Given the description of an element on the screen output the (x, y) to click on. 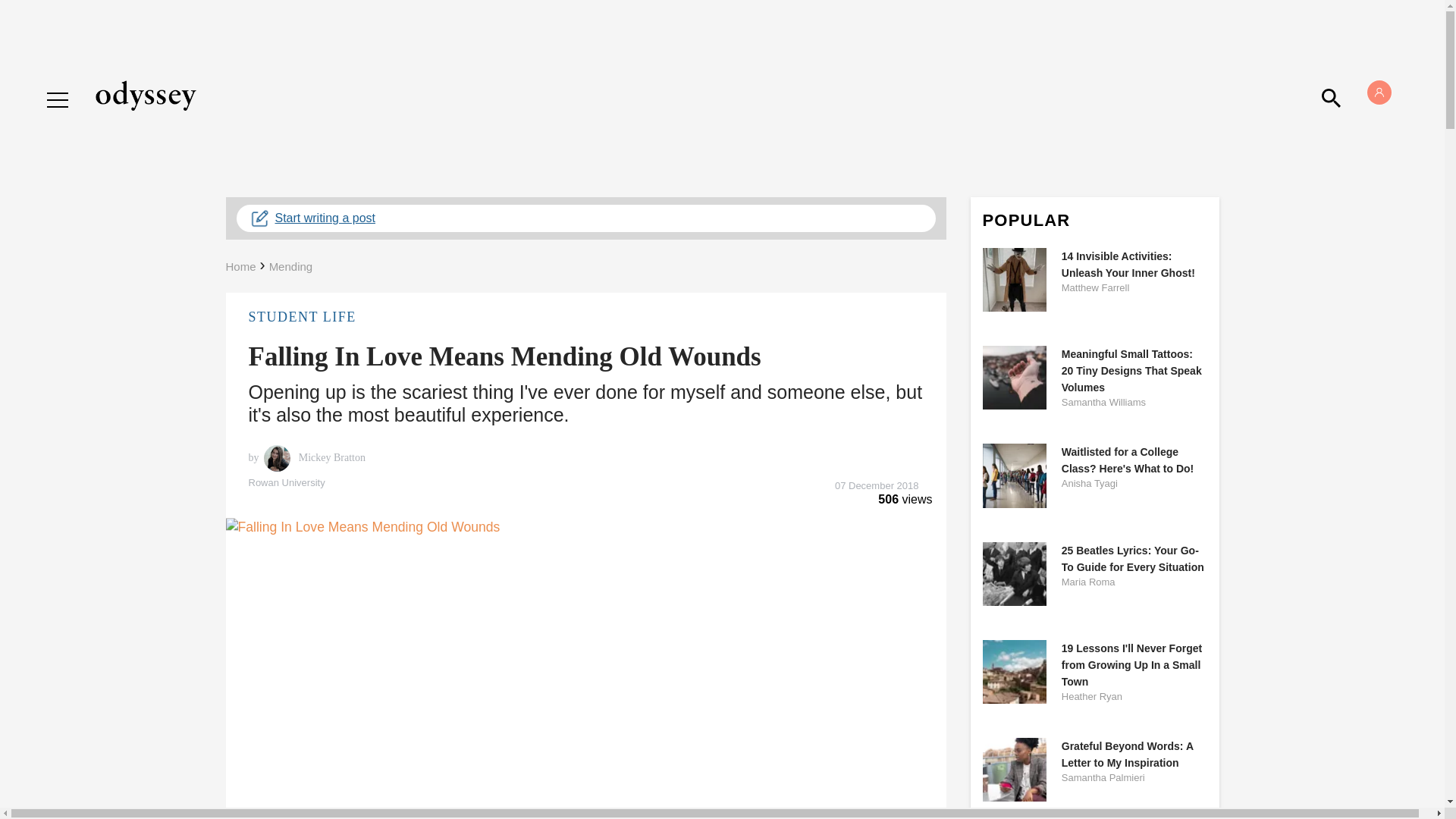
GO BACK (79, 85)
Mickey Bratton (330, 457)
Start writing a post (585, 217)
STUDENT LIFE (585, 316)
Falling In Love Means Mending Old Wounds (504, 356)
Home (240, 266)
Mending (291, 266)
